Given the description of an element on the screen output the (x, y) to click on. 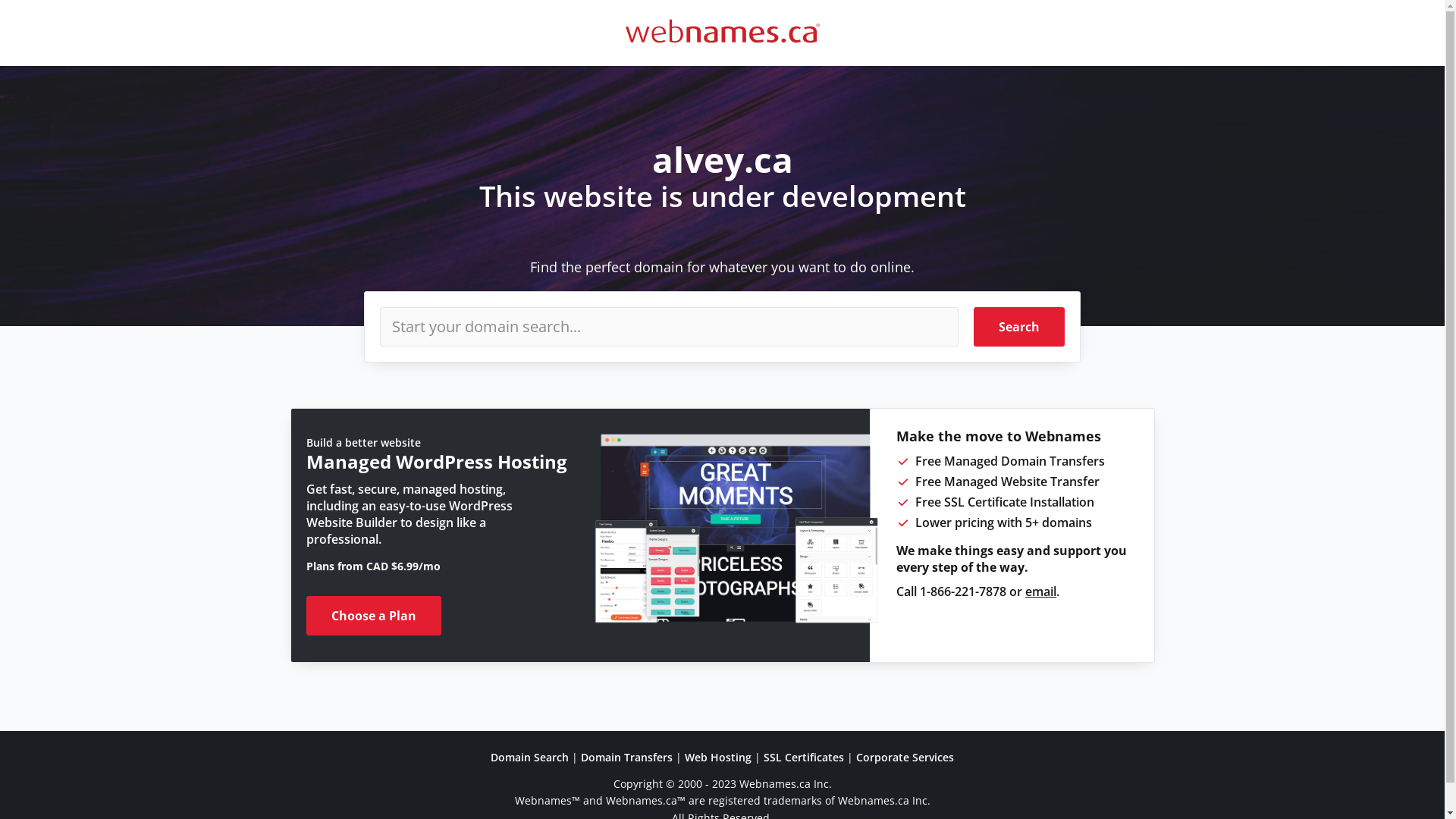
Domain Search Element type: text (529, 756)
Domain Transfers Element type: text (626, 756)
SSL Certificates Element type: text (803, 756)
1-866-221-7878 Element type: text (962, 591)
Choose a Plan Element type: text (373, 615)
Web Hosting Element type: text (717, 756)
Search Element type: text (1018, 326)
Corporate Services Element type: text (904, 756)
email Element type: text (1040, 591)
